Given the description of an element on the screen output the (x, y) to click on. 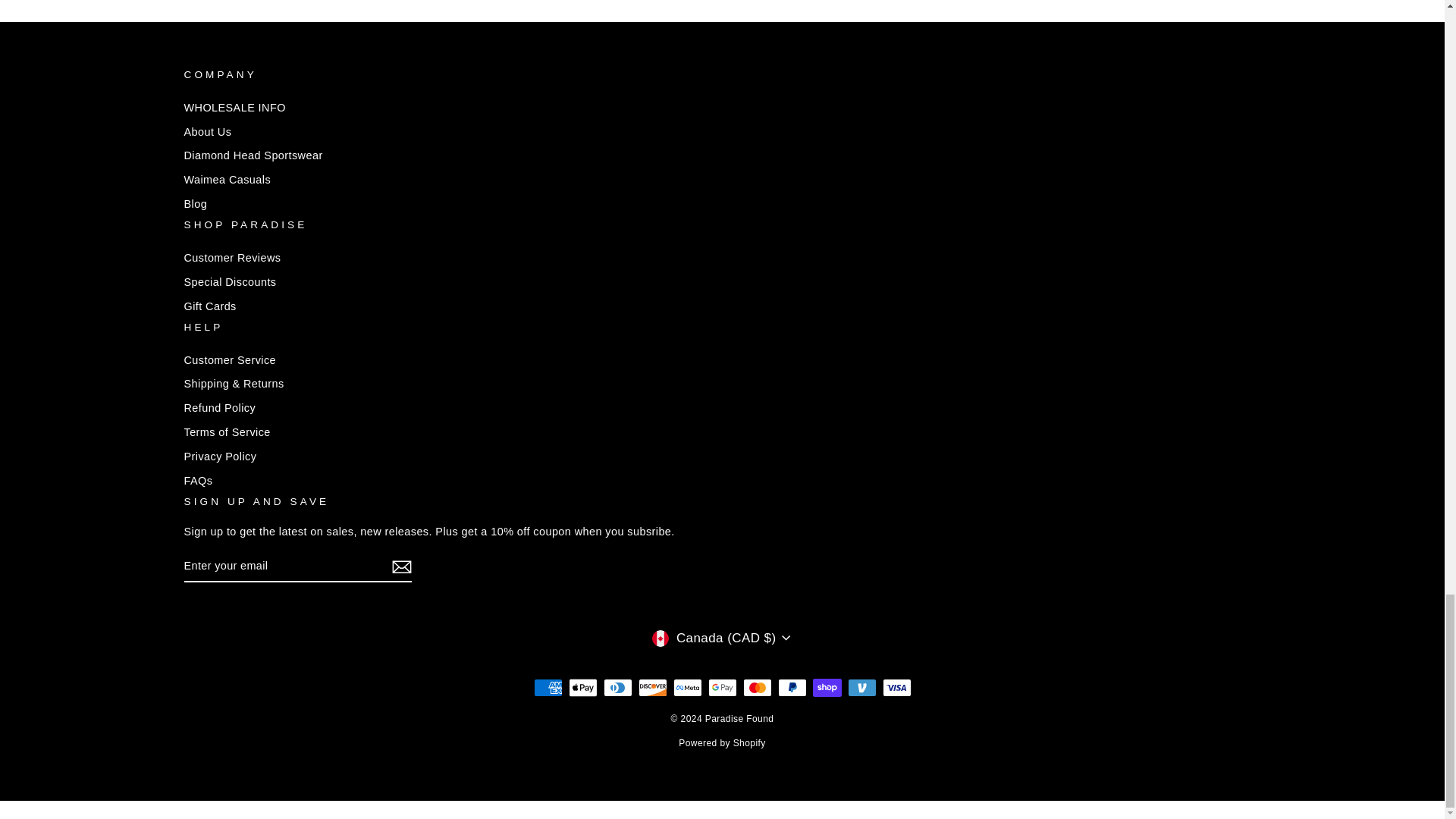
PayPal (791, 687)
American Express (548, 687)
Apple Pay (582, 687)
Diners Club (617, 687)
Google Pay (721, 687)
Meta Pay (686, 687)
Shop Pay (826, 687)
Mastercard (756, 687)
Discover (652, 687)
